Given the description of an element on the screen output the (x, y) to click on. 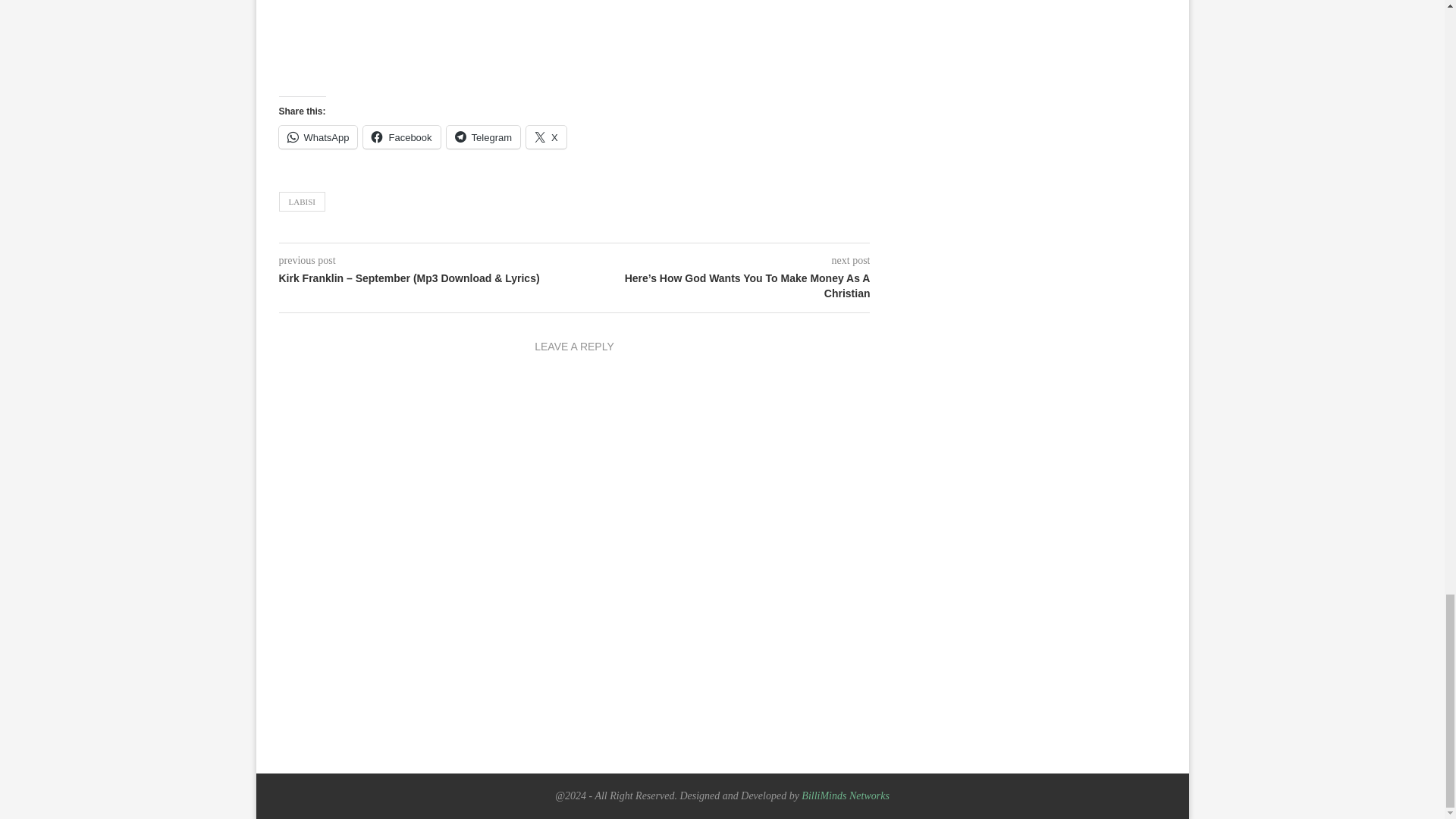
Click to share on Facebook (400, 137)
Click to share on WhatsApp (318, 137)
Advertisement (574, 45)
